Given the description of an element on the screen output the (x, y) to click on. 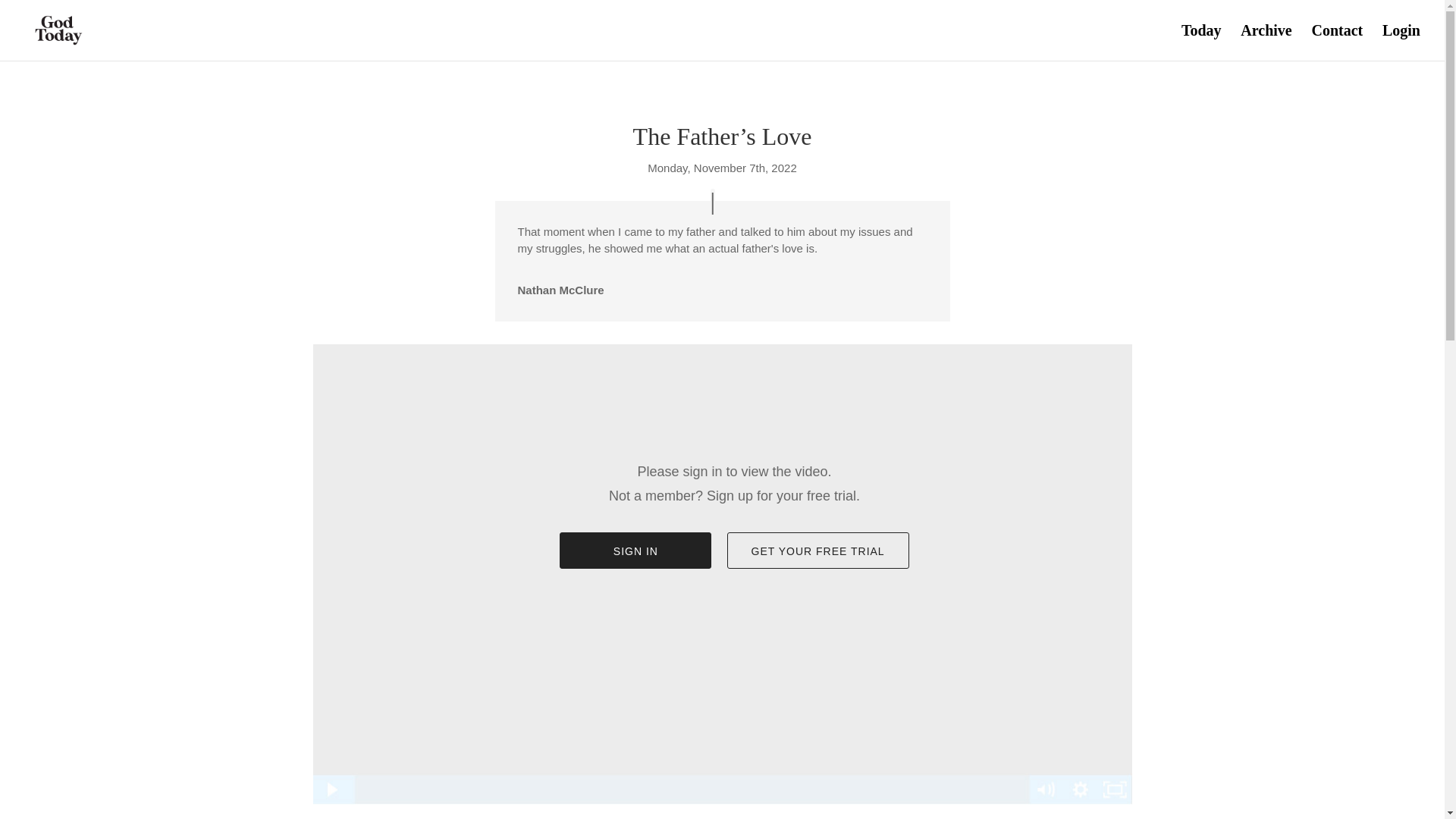
Get your free trial (817, 550)
Today (1200, 42)
Login (1401, 42)
Sign In (635, 550)
SIGN IN (635, 550)
Archive (1265, 42)
GET YOUR FREE TRIAL (817, 550)
Contact (1336, 42)
